Given the description of an element on the screen output the (x, y) to click on. 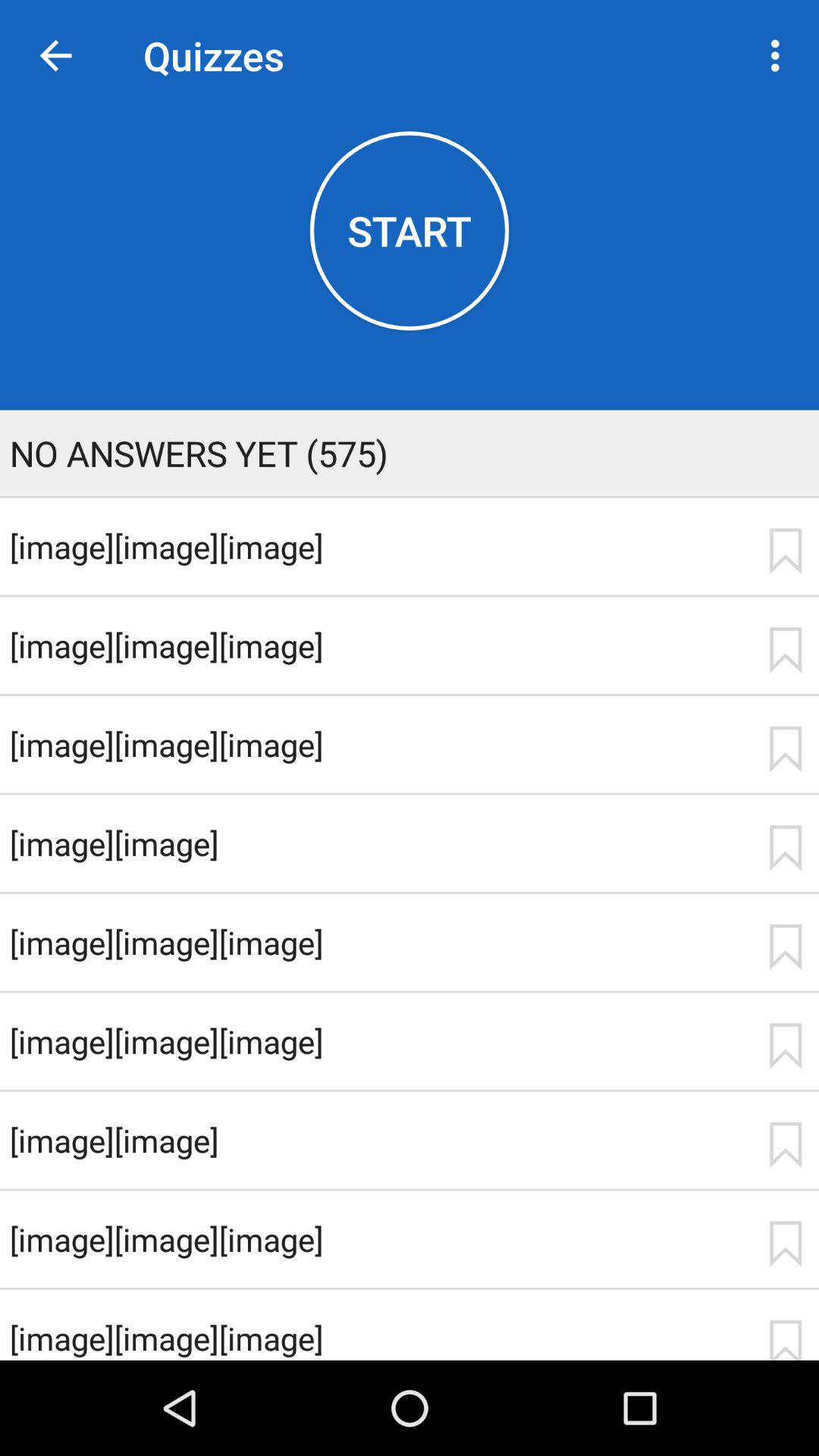
bookmark topic (784, 1145)
